Given the description of an element on the screen output the (x, y) to click on. 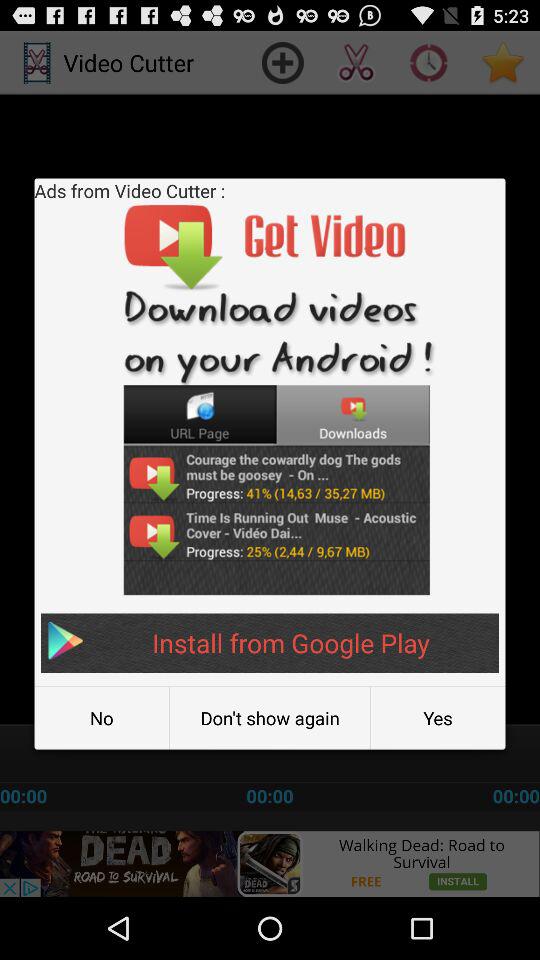
turn on the icon next to yes button (269, 717)
